Given the description of an element on the screen output the (x, y) to click on. 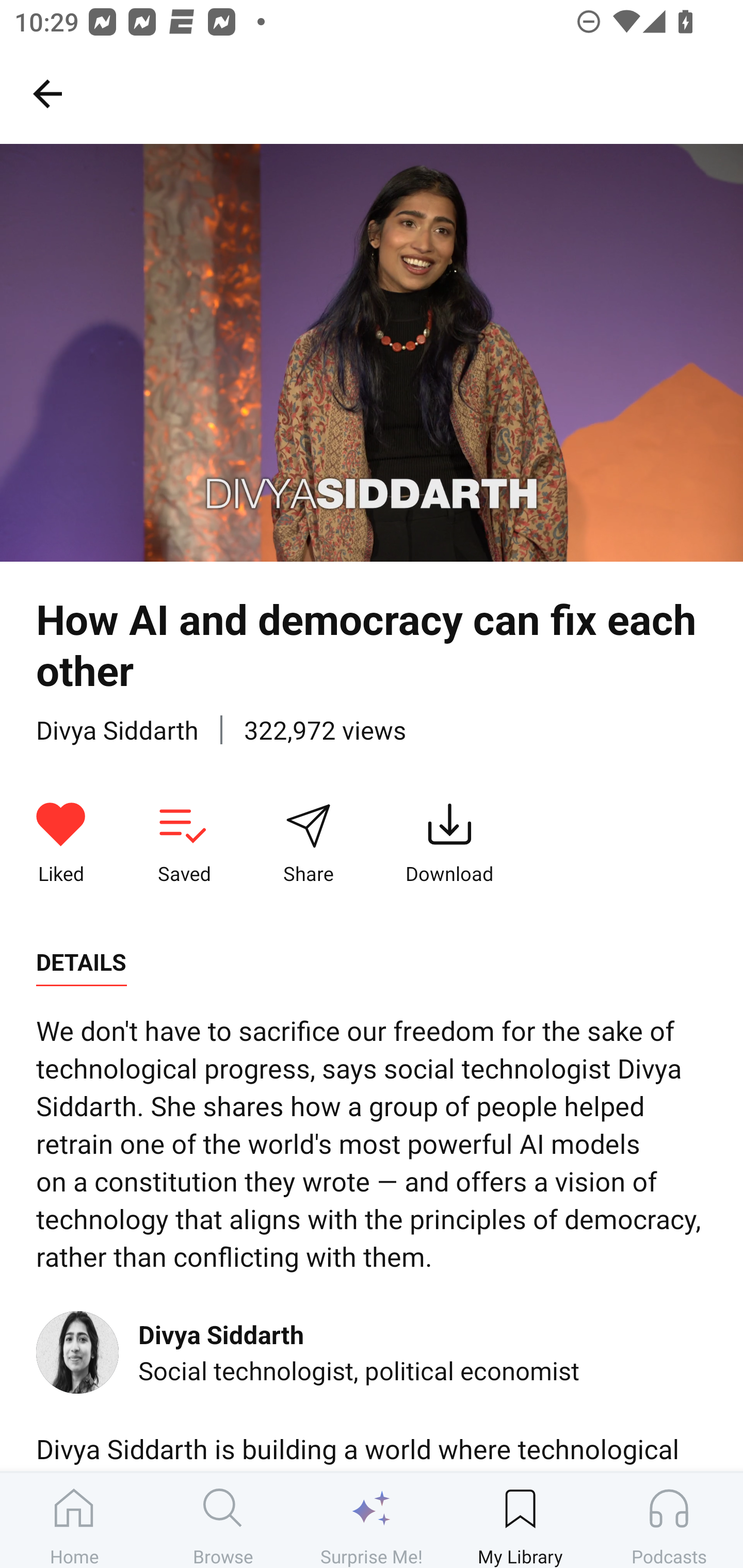
My Library, back (47, 92)
Liked (60, 843)
Saved (183, 843)
Share (308, 843)
Download (449, 843)
DETAILS (80, 962)
Home (74, 1520)
Browse (222, 1520)
Surprise Me! (371, 1520)
My Library (519, 1520)
Podcasts (668, 1520)
